Given the description of an element on the screen output the (x, y) to click on. 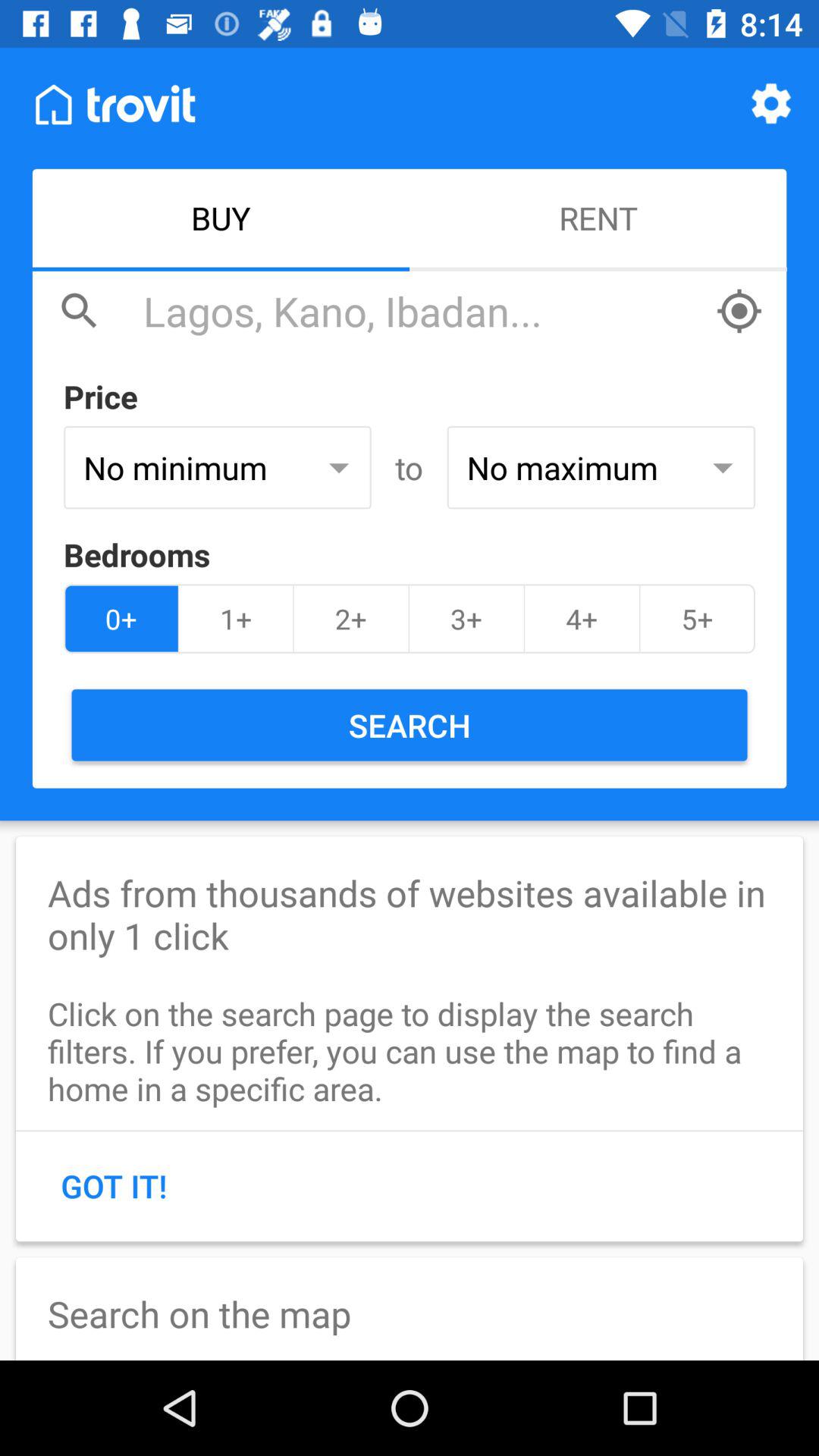
select icon above the price (421, 310)
